Given the description of an element on the screen output the (x, y) to click on. 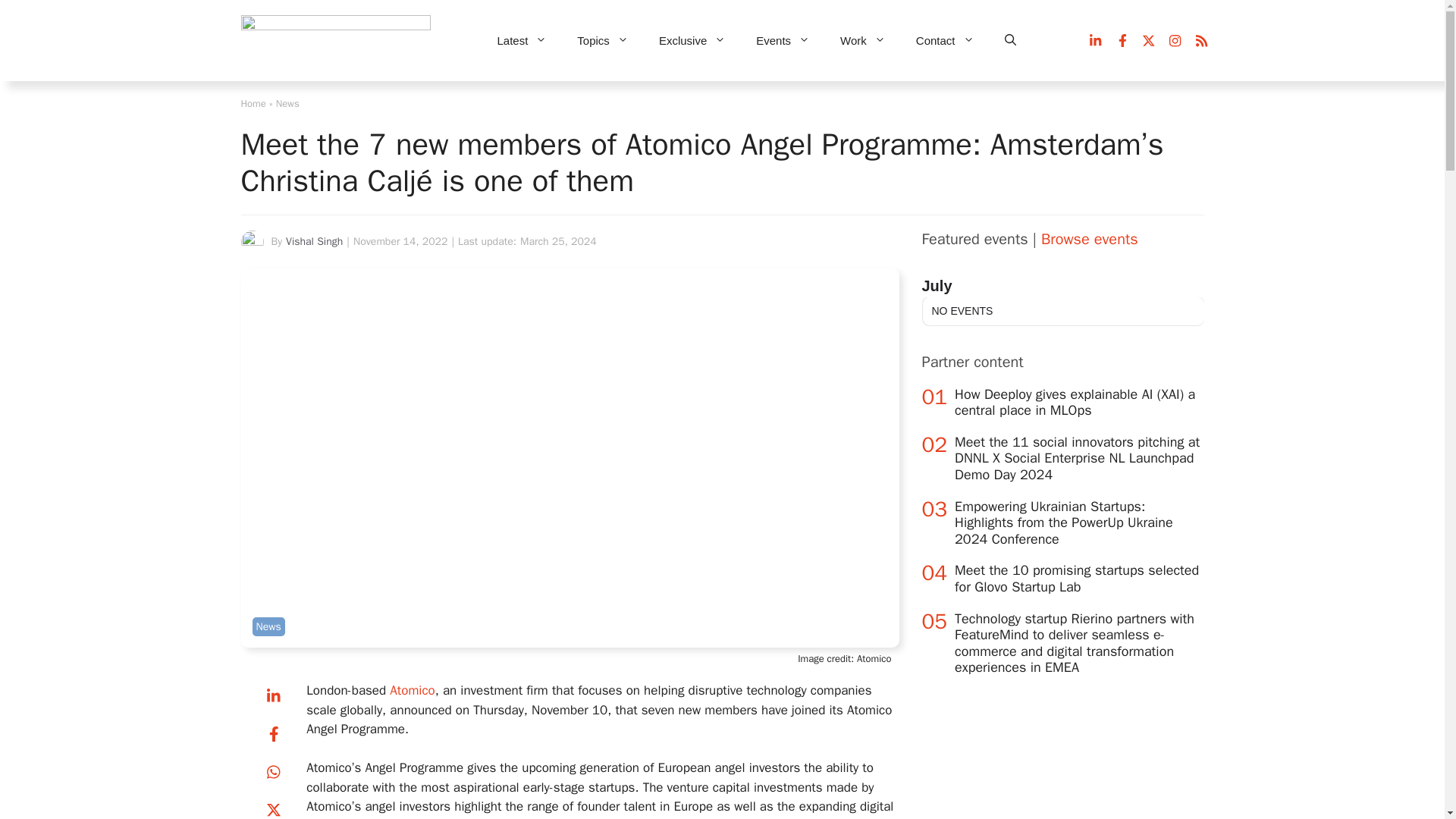
Work (863, 40)
Latest (521, 40)
Topics (602, 40)
SC 10 year horizontal (335, 40)
Events (783, 40)
Exclusive (692, 40)
